Given the description of an element on the screen output the (x, y) to click on. 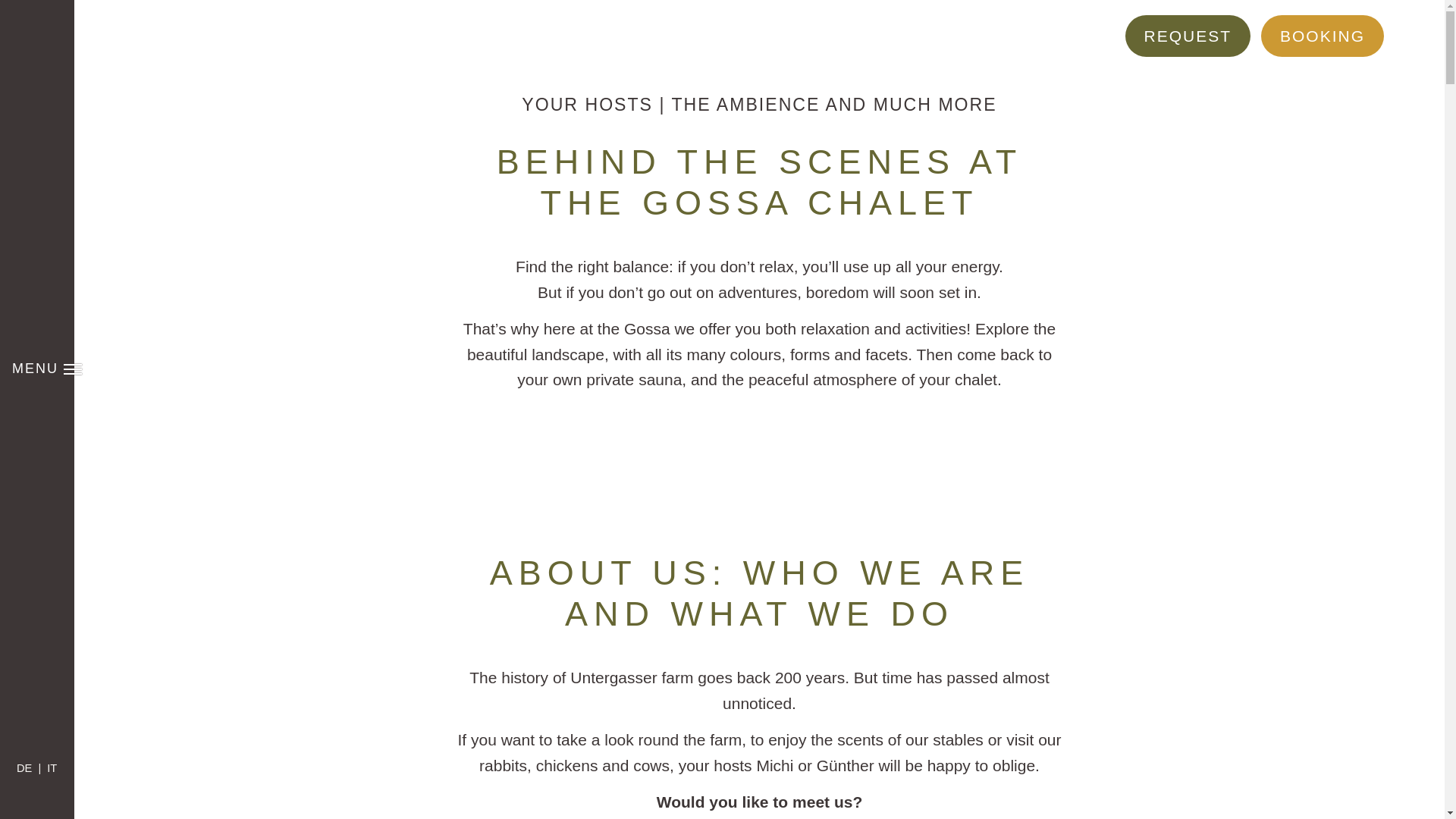
REQUEST (1187, 35)
Request (36, 694)
Home (36, 47)
Phone (36, 733)
Booking (45, 368)
BOOKING (1322, 35)
DE (1322, 35)
Request (28, 767)
